Given the description of an element on the screen output the (x, y) to click on. 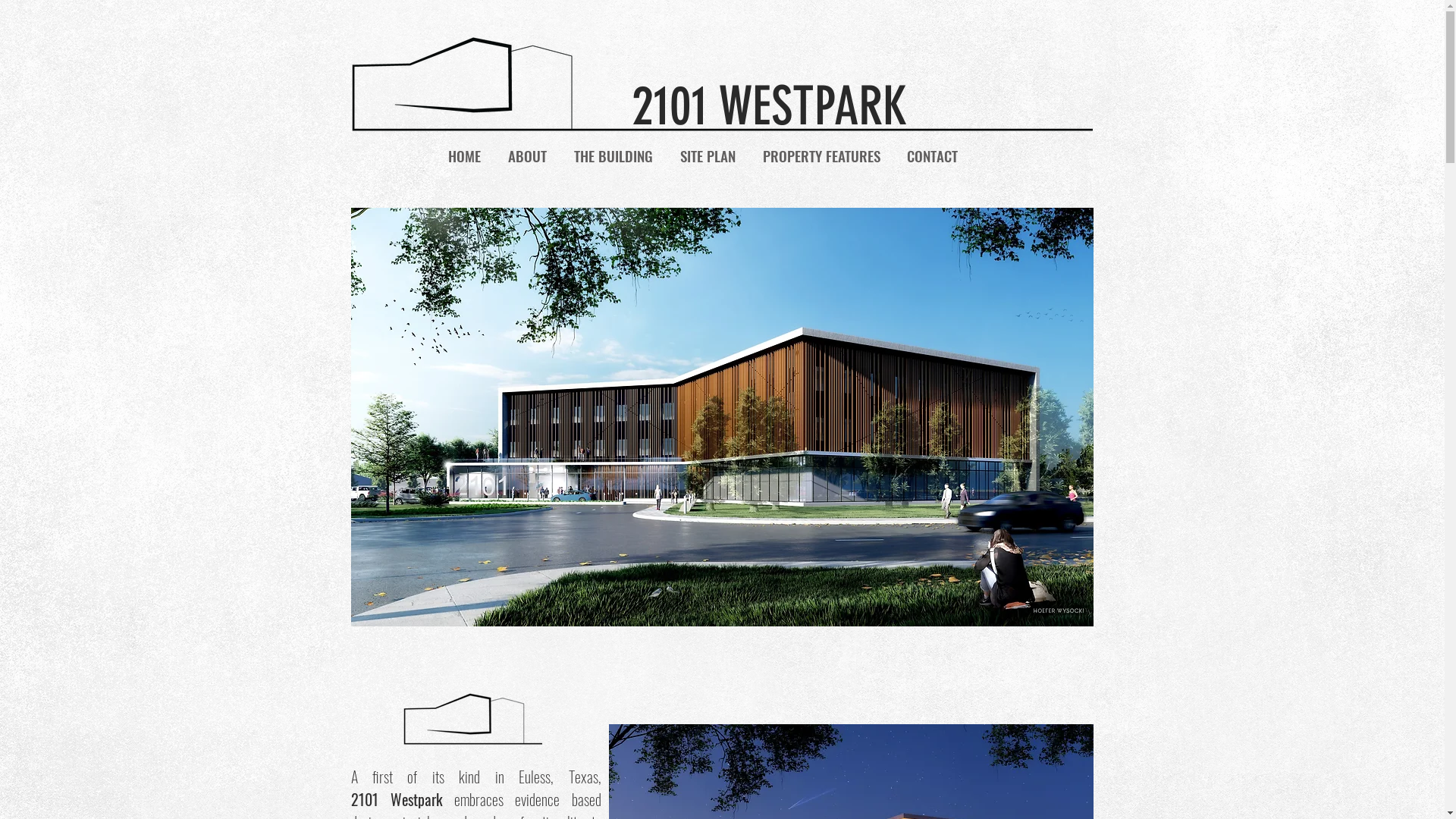
SITE PLAN Element type: text (706, 155)
CONTACT Element type: text (931, 155)
ABOUT Element type: text (527, 155)
HOME Element type: text (463, 155)
THE BUILDING Element type: text (612, 155)
PROPERTY FEATURES Element type: text (821, 155)
